Given the description of an element on the screen output the (x, y) to click on. 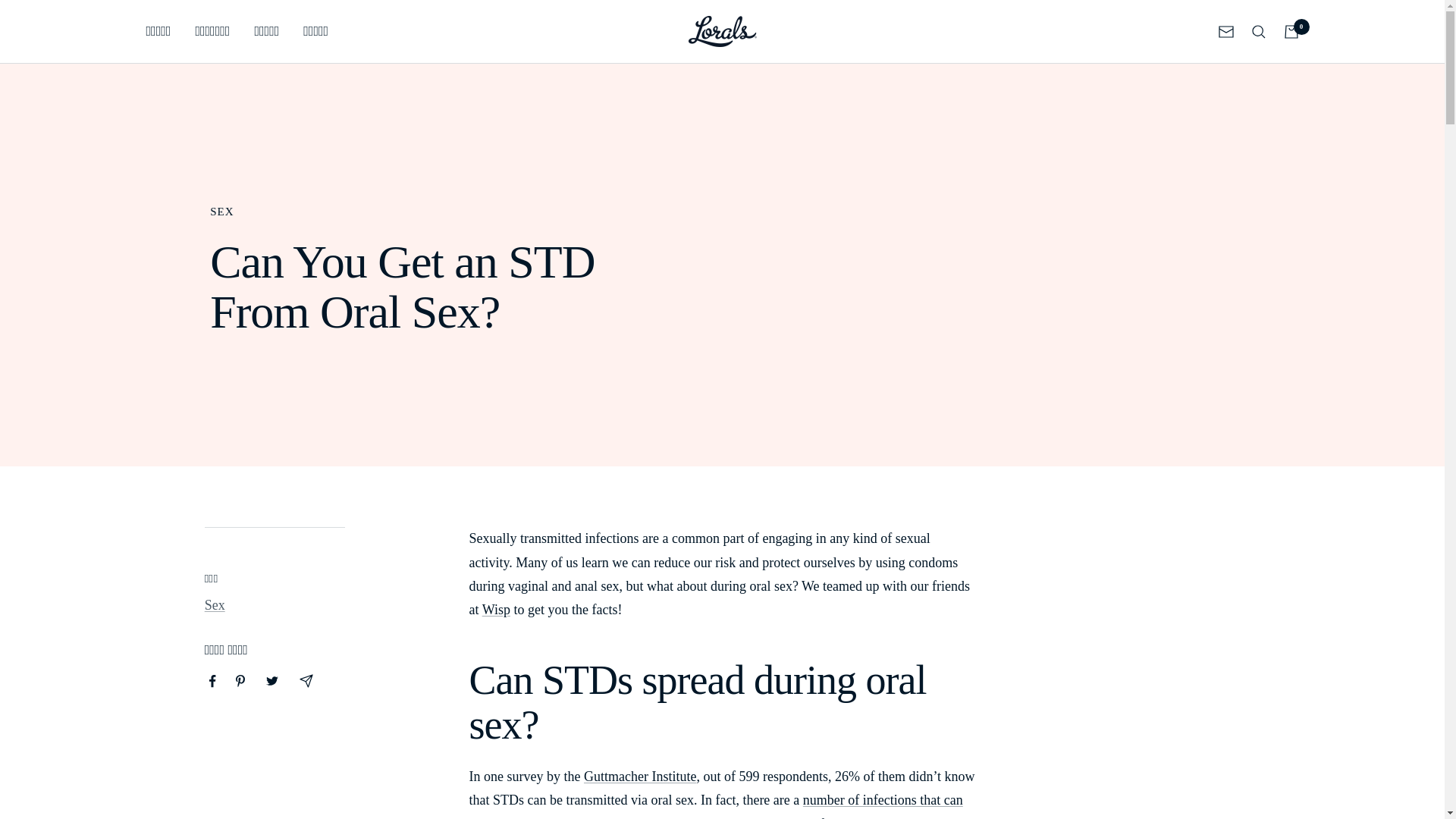
Guttmacher Institute (639, 776)
0 (1290, 30)
Wisp (496, 609)
number of infections that can be transmitted during oral sex (715, 805)
Lorals (722, 30)
SEX (438, 211)
Sex (215, 604)
Wisp (496, 609)
